Given the description of an element on the screen output the (x, y) to click on. 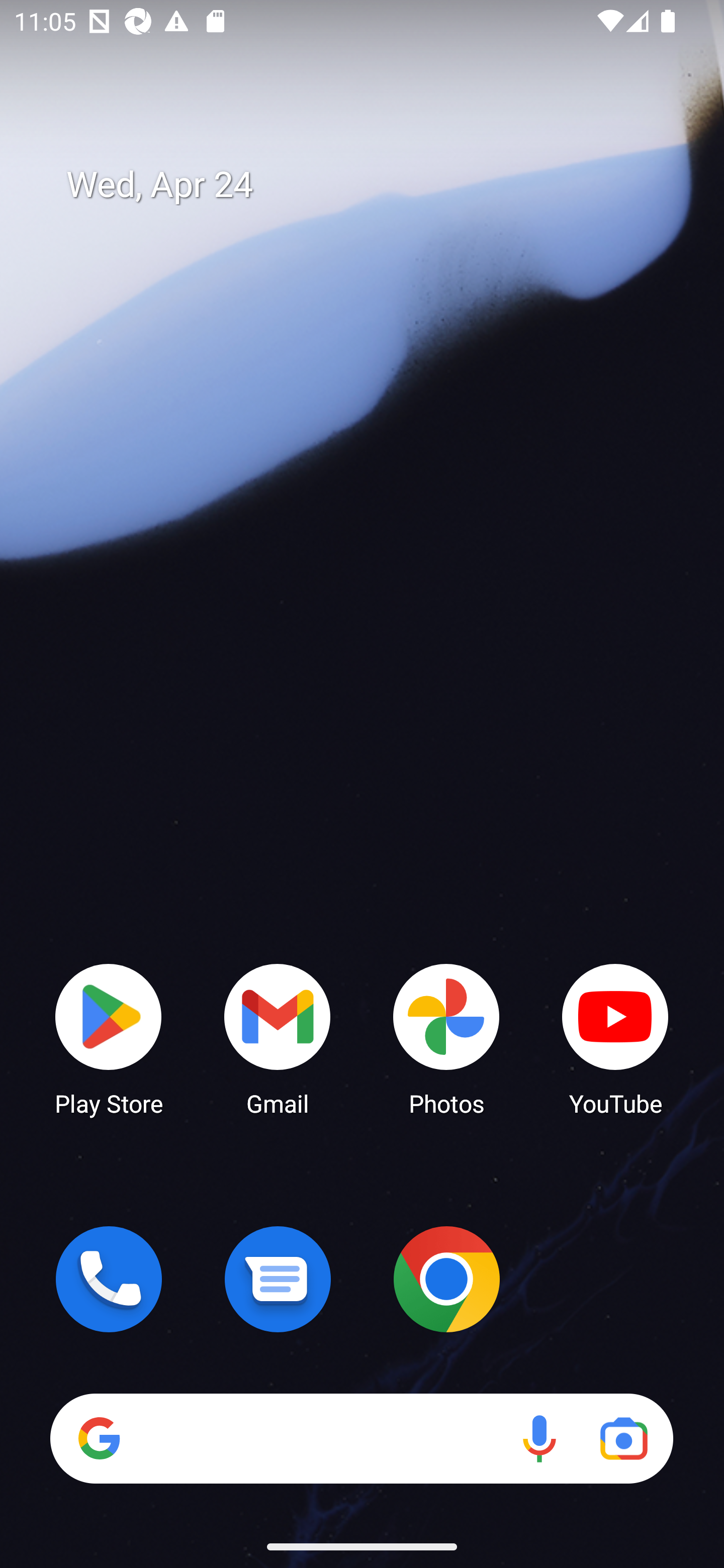
Wed, Apr 24 (375, 184)
Play Store (108, 1038)
Gmail (277, 1038)
Photos (445, 1038)
YouTube (615, 1038)
Phone (108, 1279)
Messages (277, 1279)
Chrome (446, 1279)
Search Voice search Google Lens (361, 1438)
Voice search (539, 1438)
Google Lens (623, 1438)
